Given the description of an element on the screen output the (x, y) to click on. 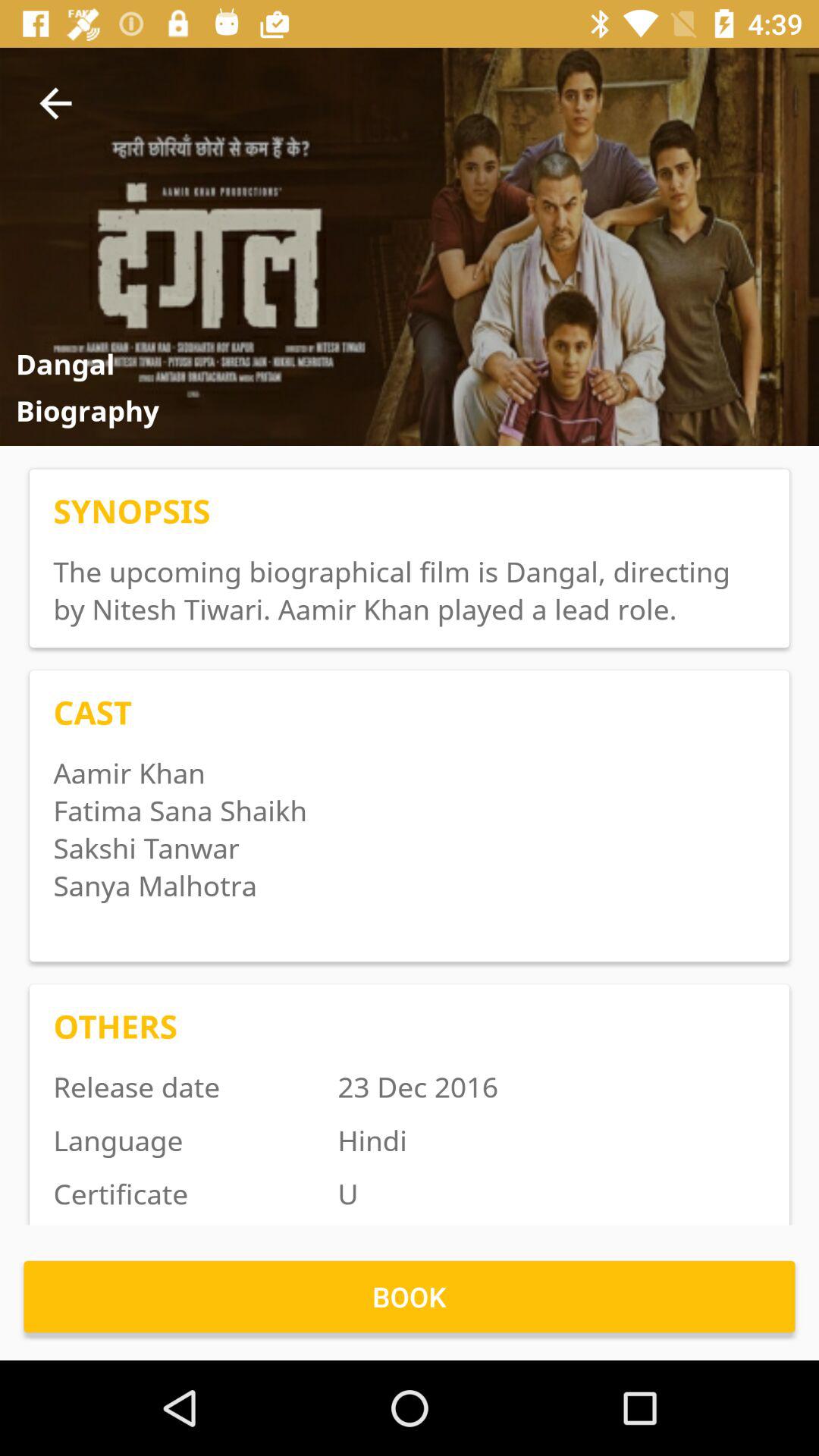
choose the item above the dangal icon (55, 103)
